Given the description of an element on the screen output the (x, y) to click on. 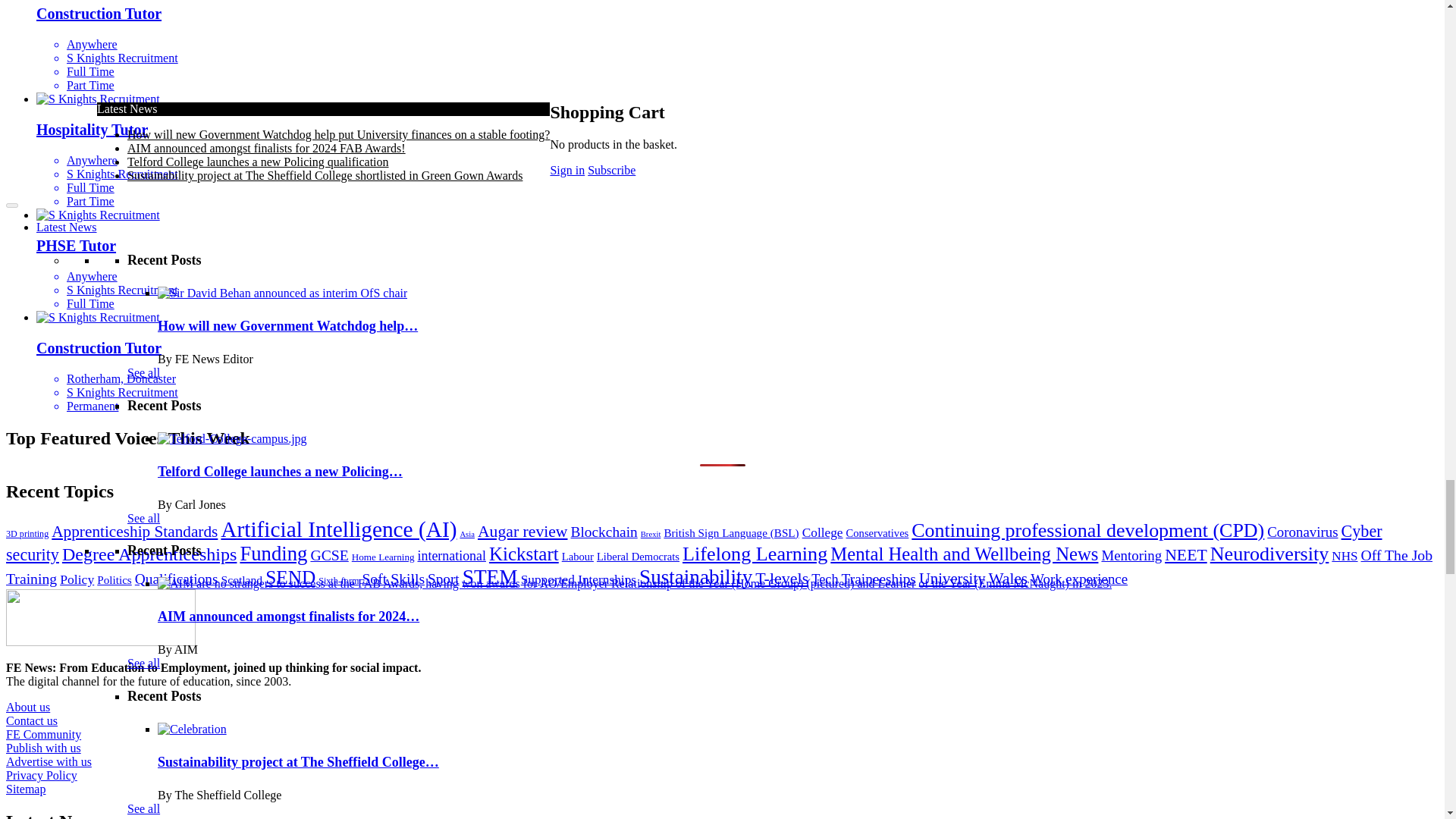
Permalink to Skilfully Speaking (393, 473)
